Given the description of an element on the screen output the (x, y) to click on. 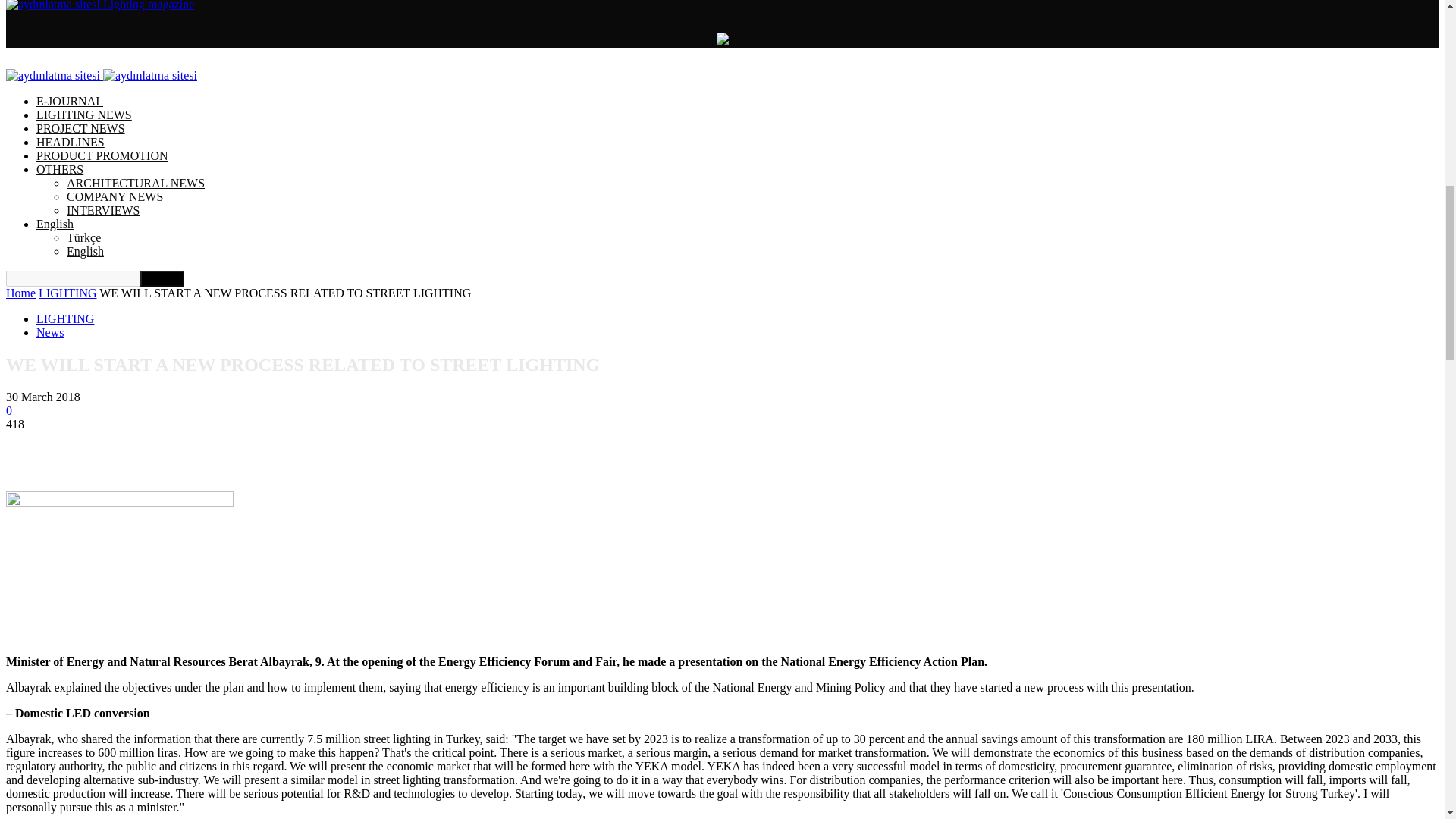
Search (161, 278)
Lighting magazine (99, 5)
View all posts in LIGHTING (67, 292)
